Given the description of an element on the screen output the (x, y) to click on. 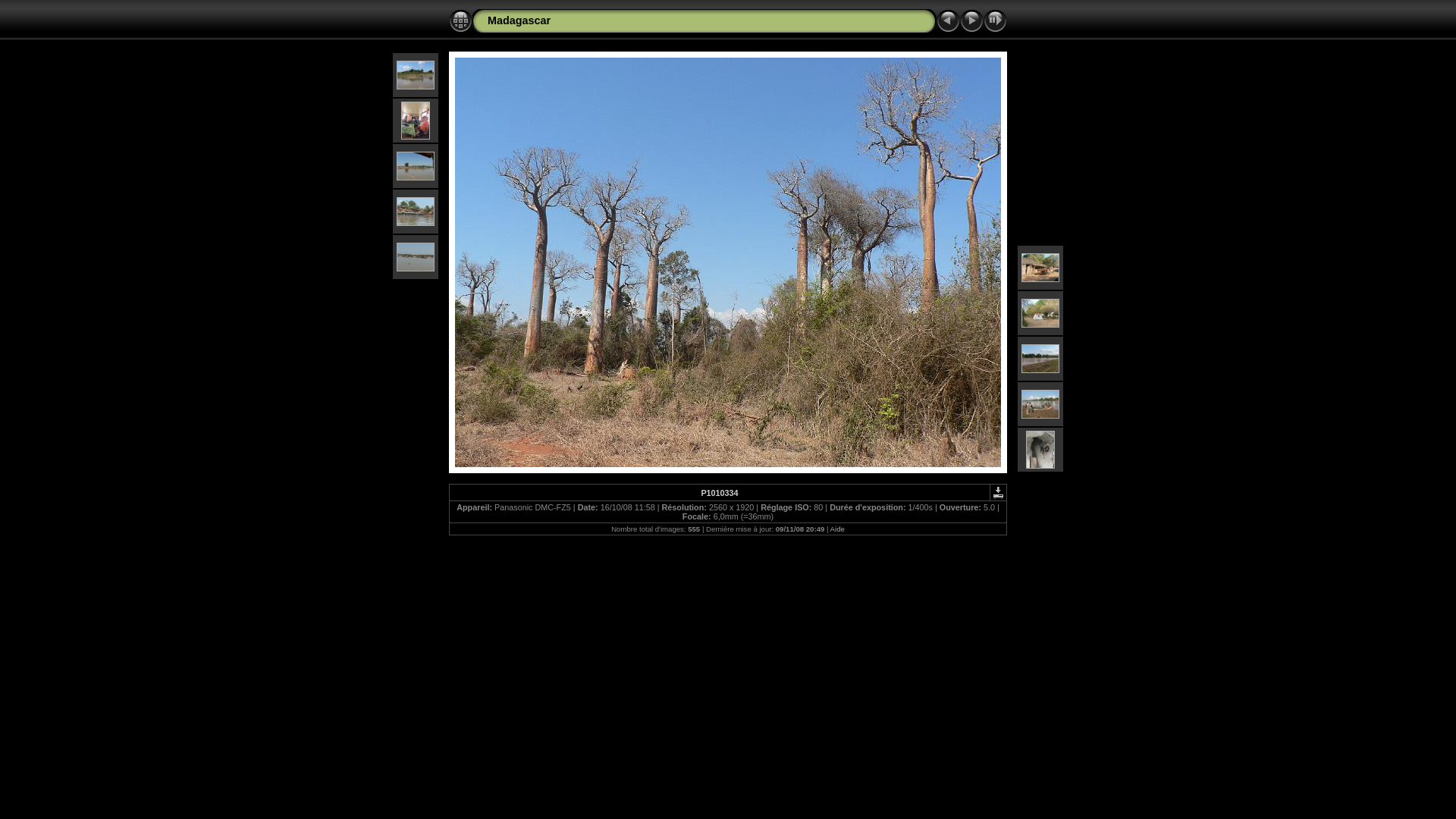
 P1010336  Element type: hover (1040, 312)
 P1010332  Element type: hover (415, 211)
Madagascar Element type: text (518, 20)
 P1010337  Element type: hover (1040, 358)
 P1010333  Element type: hover (415, 256)
 P1010330  Element type: hover (415, 120)
 Page d'index  Element type: hover (460, 20)
 Image suivante  Element type: hover (971, 20)
 P1010342  Element type: hover (1040, 449)
 P1010329  Element type: hover (415, 74)
 P1010331  Element type: hover (415, 165)
 P1010335  Element type: hover (1040, 267)
Aide Element type: text (837, 528)
 P1010338  Element type: hover (1040, 403)
